Given the description of an element on the screen output the (x, y) to click on. 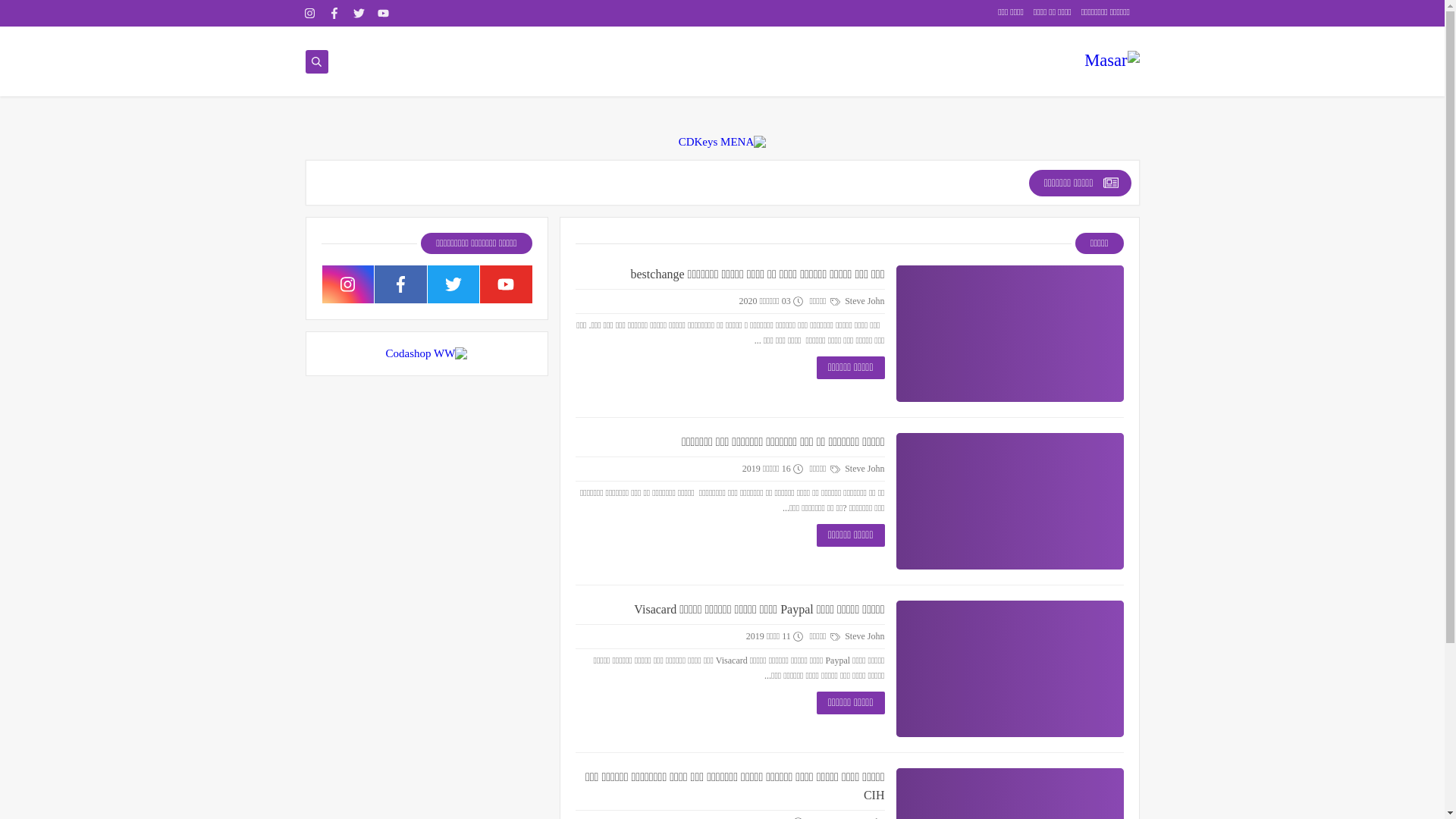
facebook Element type: hover (400, 284)
twitter Element type: hover (453, 284)
facebook Element type: hover (333, 13)
instagram Element type: hover (309, 13)
twitter Element type: hover (358, 13)
instagram Element type: hover (347, 284)
youtube Element type: hover (506, 284)
youtube Element type: hover (383, 13)
